Given the description of an element on the screen output the (x, y) to click on. 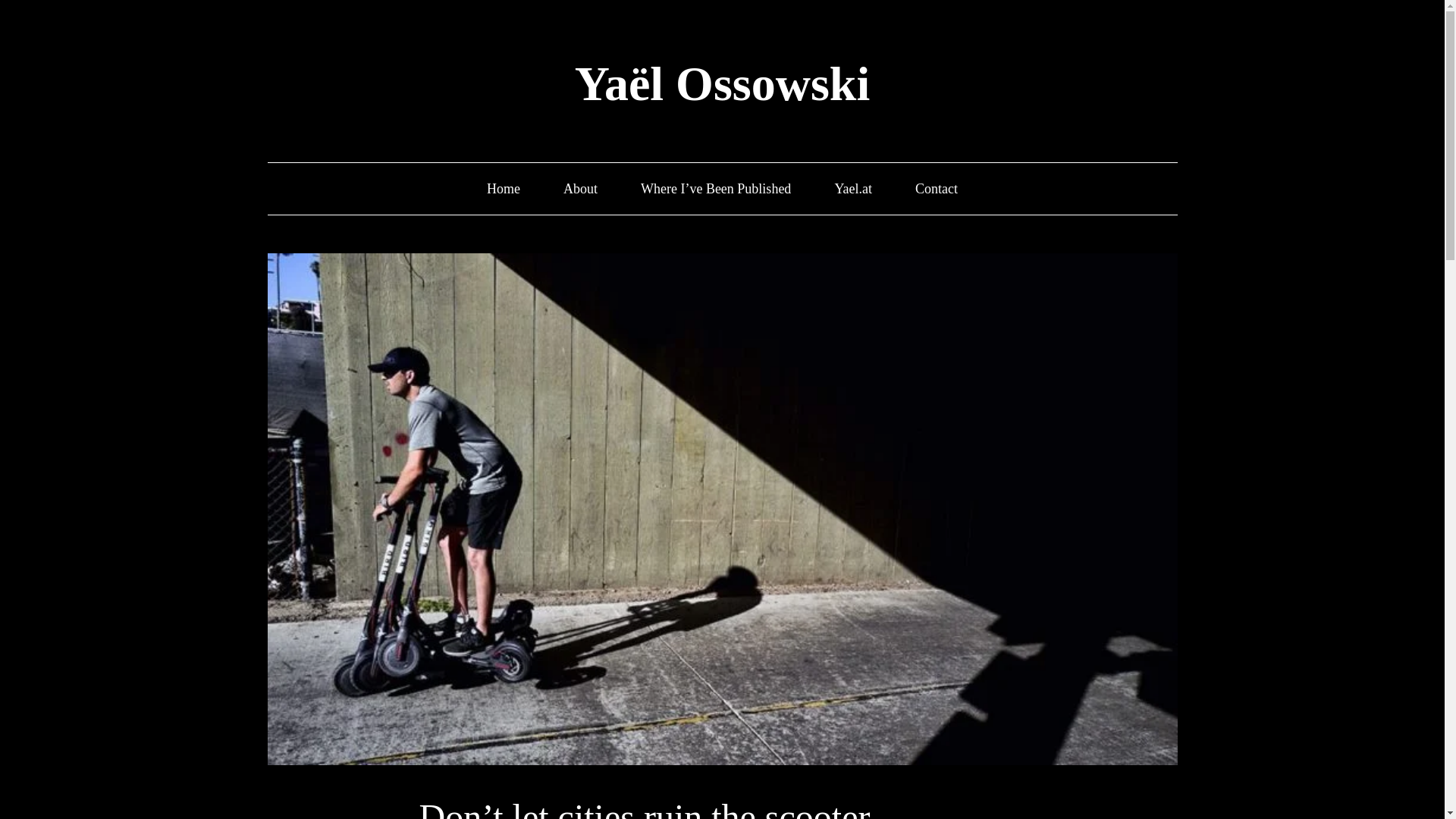
Home (502, 188)
About (579, 188)
Contact (936, 188)
Yael.at (853, 188)
